Given the description of an element on the screen output the (x, y) to click on. 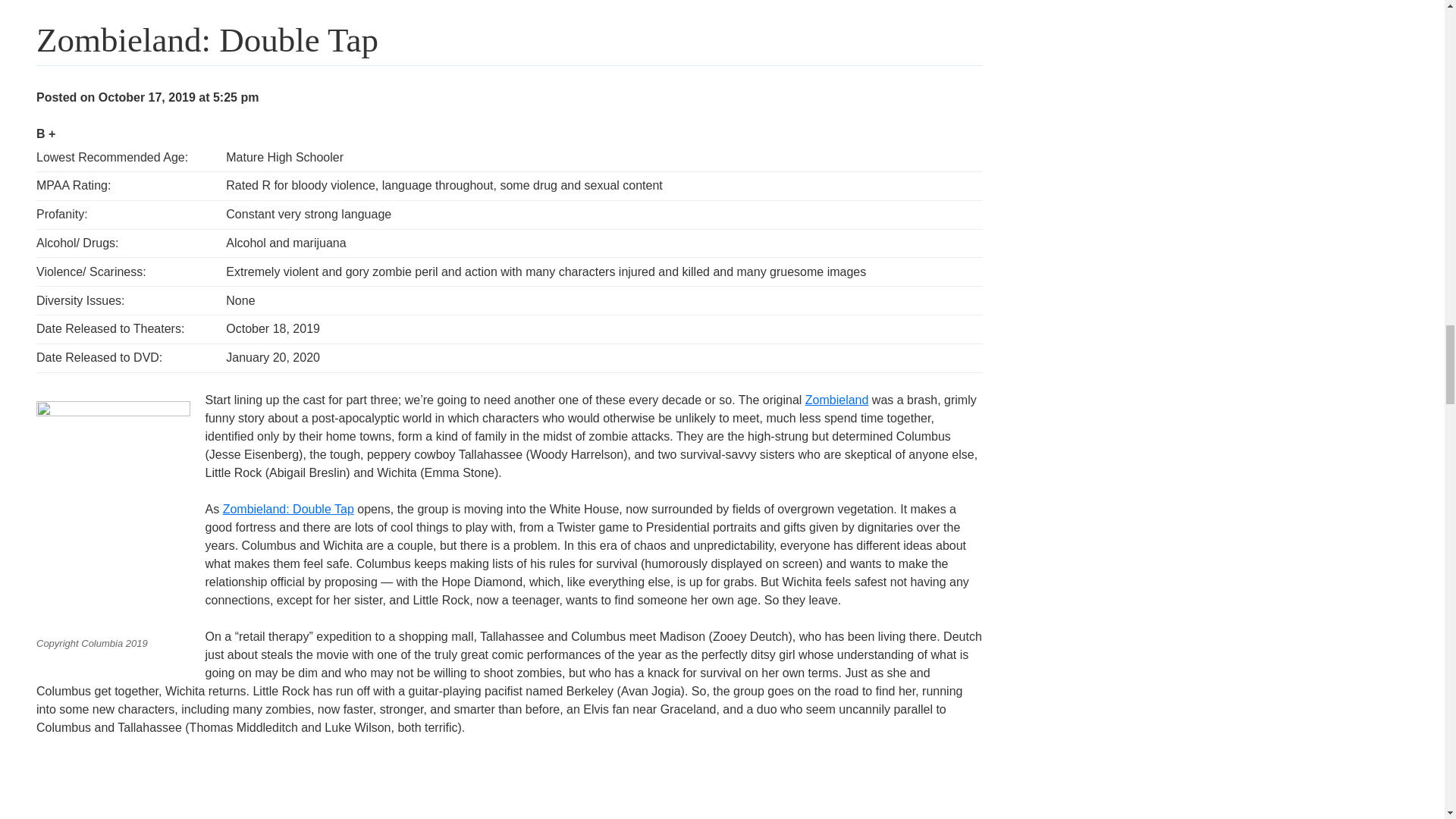
Zombieland: Double Tap (287, 508)
Zombieland (837, 399)
YouTube player (234, 787)
Zombieland: Double Tap (107, 1)
